Given the description of an element on the screen output the (x, y) to click on. 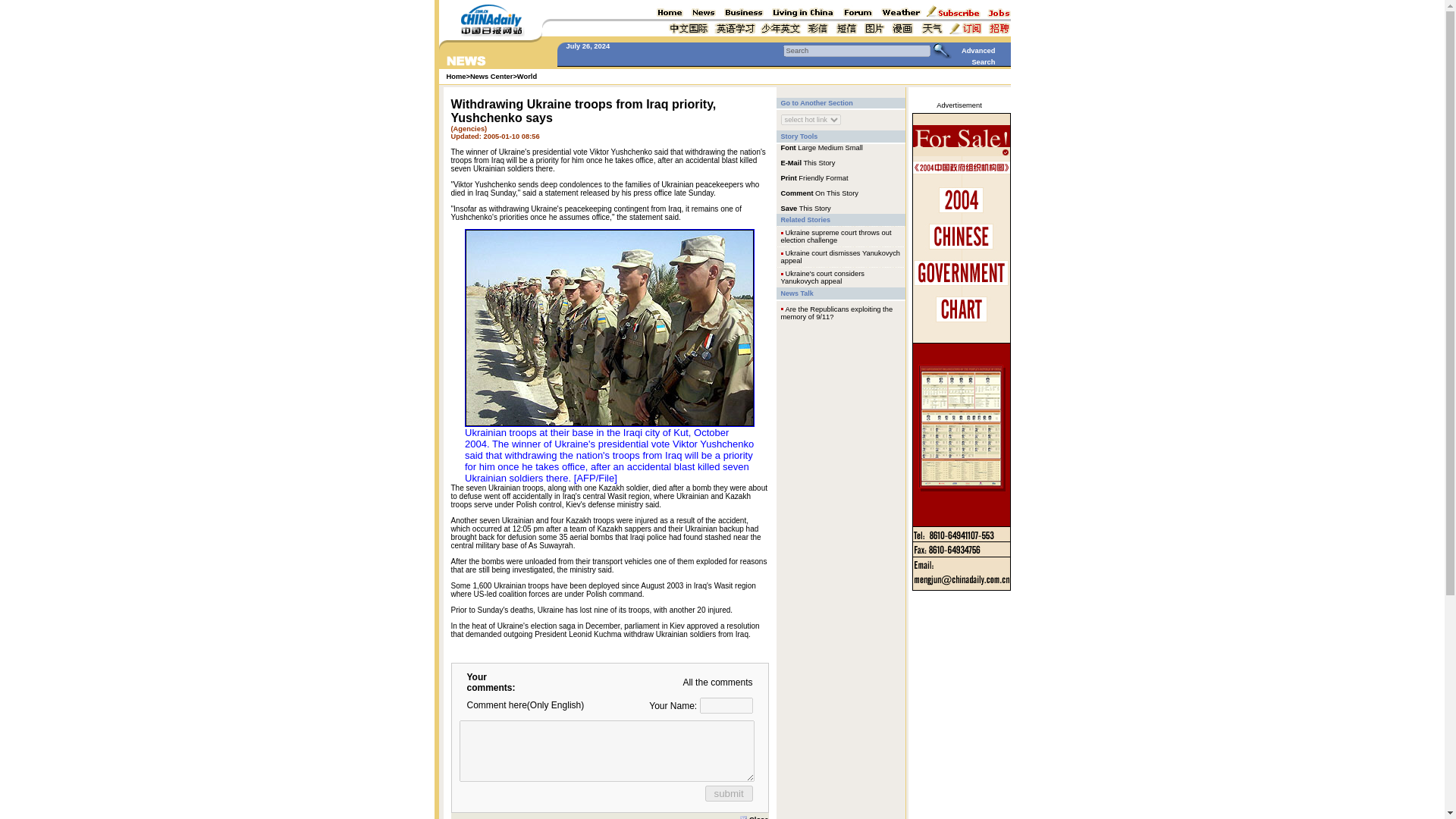
All the comments (717, 682)
Ukraine court dismisses Yanukovych appeal (840, 256)
 submit  (728, 793)
Search (856, 50)
Small (854, 147)
Close (753, 816)
Comment On This Story (819, 192)
Advanced Search (977, 56)
Large (806, 147)
 submit  (728, 793)
Ukraine's court considers Yanukovych appeal (822, 277)
Print Friendly Format (814, 176)
Medium (830, 147)
Save This Story (805, 207)
E-Mail This Story (807, 162)
